Given the description of an element on the screen output the (x, y) to click on. 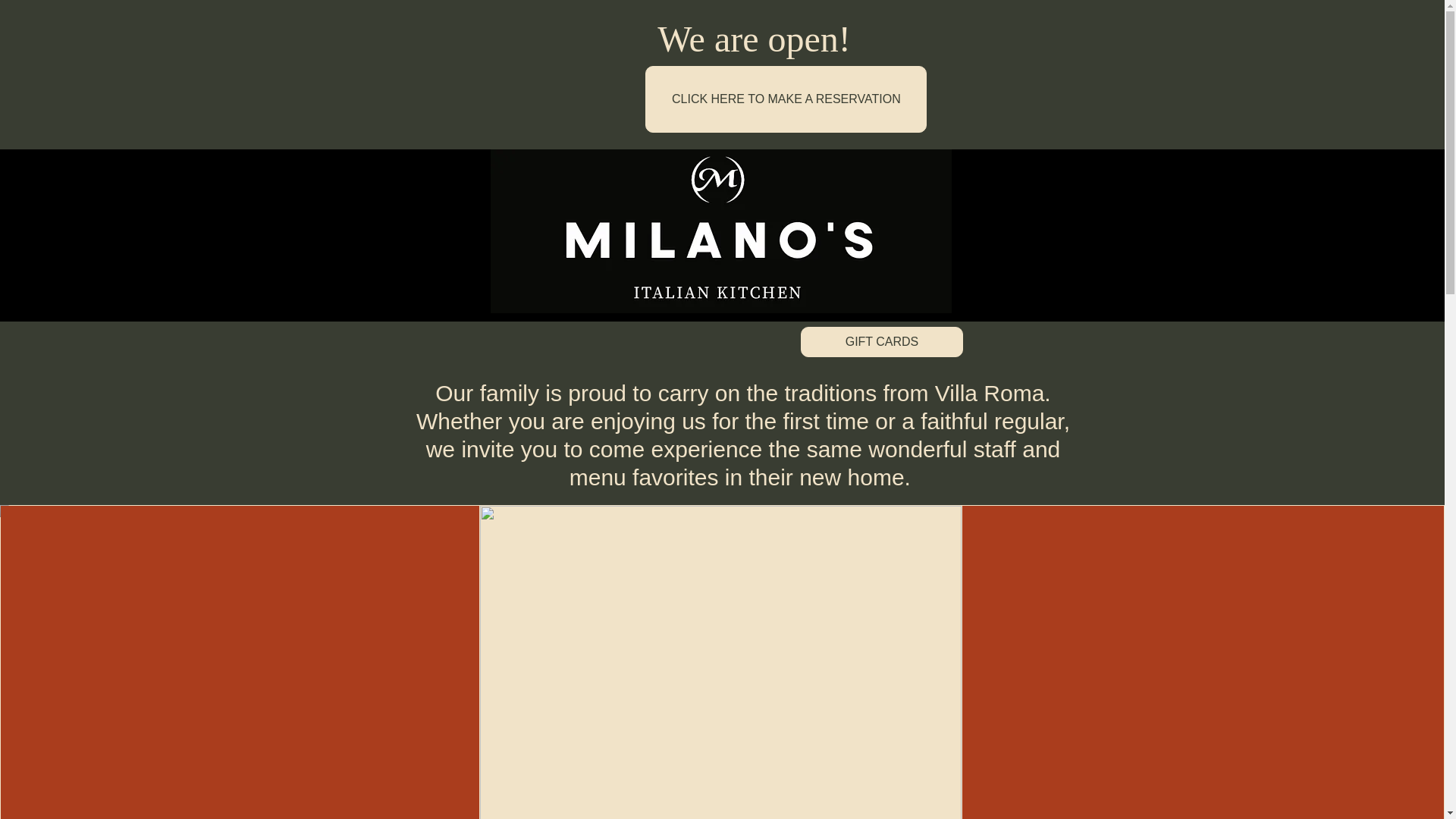
CLICK HERE TO MAKE A RESERVATION (785, 99)
GIFT CARDS (881, 341)
